Given the description of an element on the screen output the (x, y) to click on. 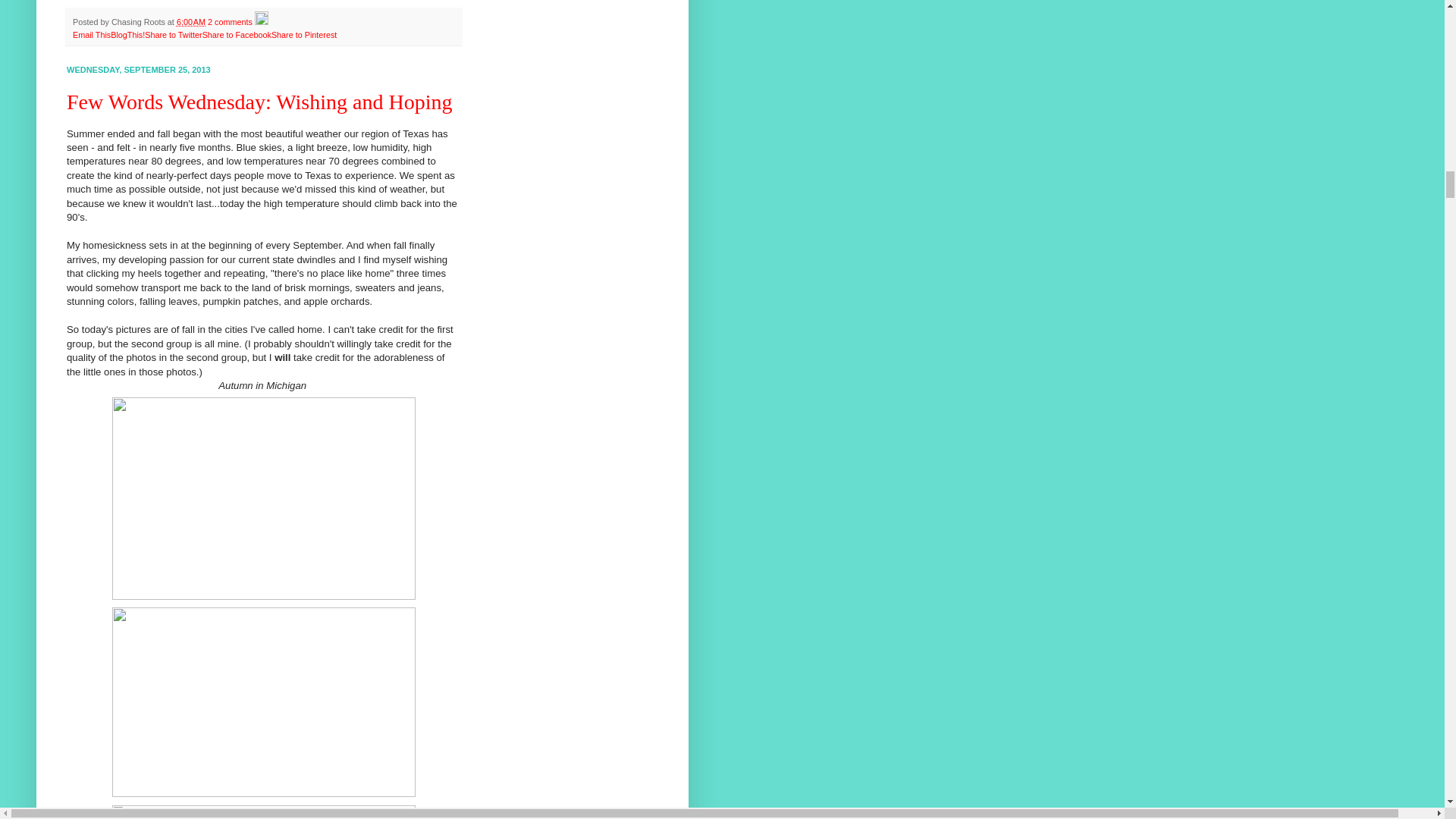
permanent link (190, 21)
